Given the description of an element on the screen output the (x, y) to click on. 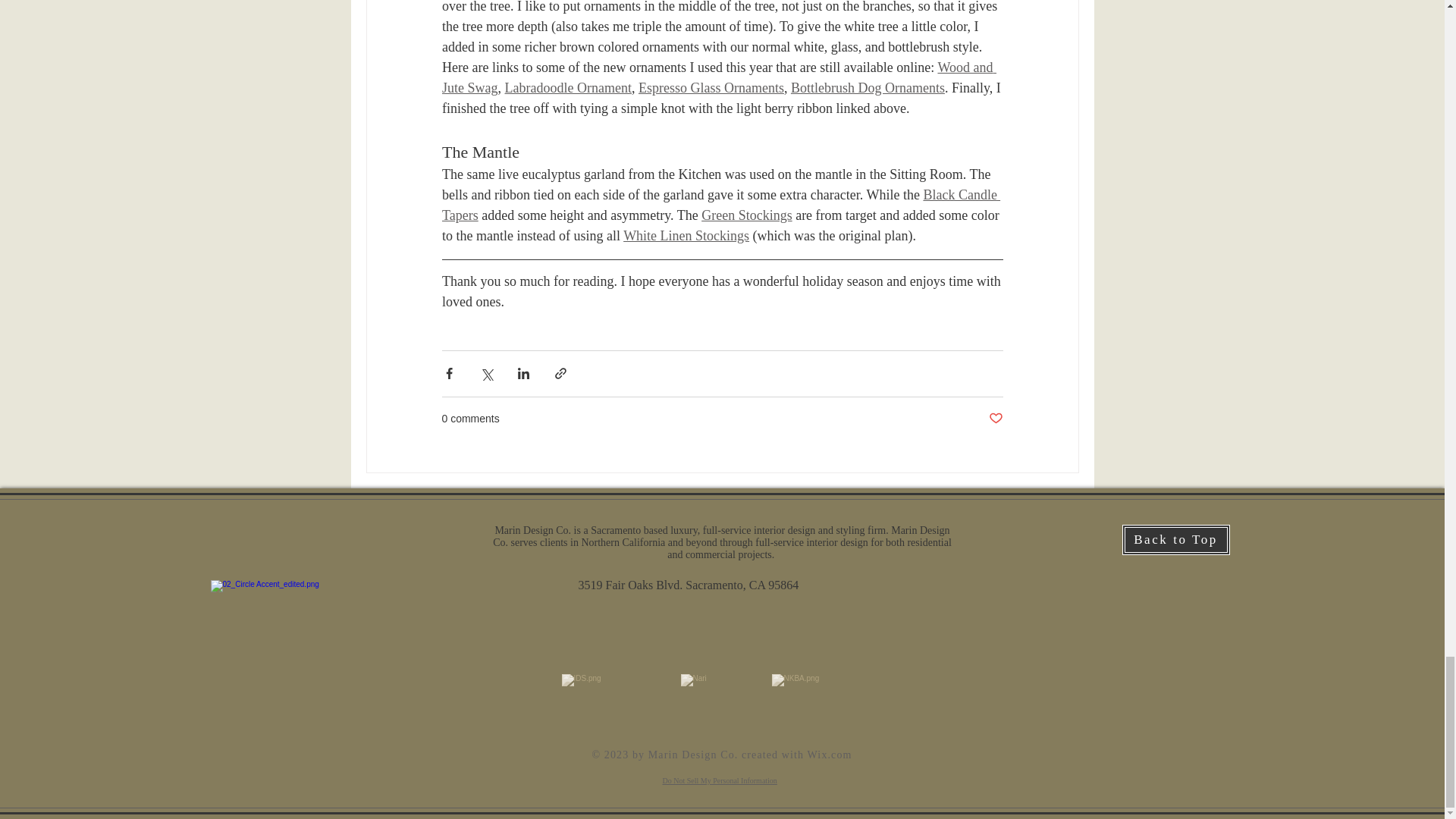
Green Stockings (746, 215)
Black Candle Tapers (719, 204)
Wood and Jute Swag (718, 77)
Labradoodle Ornament (566, 87)
White Linen Stockings (686, 235)
Bottlebrush Dog Ornaments (866, 87)
Espresso Glass Ornaments (710, 87)
Post not marked as liked (995, 418)
